Given the description of an element on the screen output the (x, y) to click on. 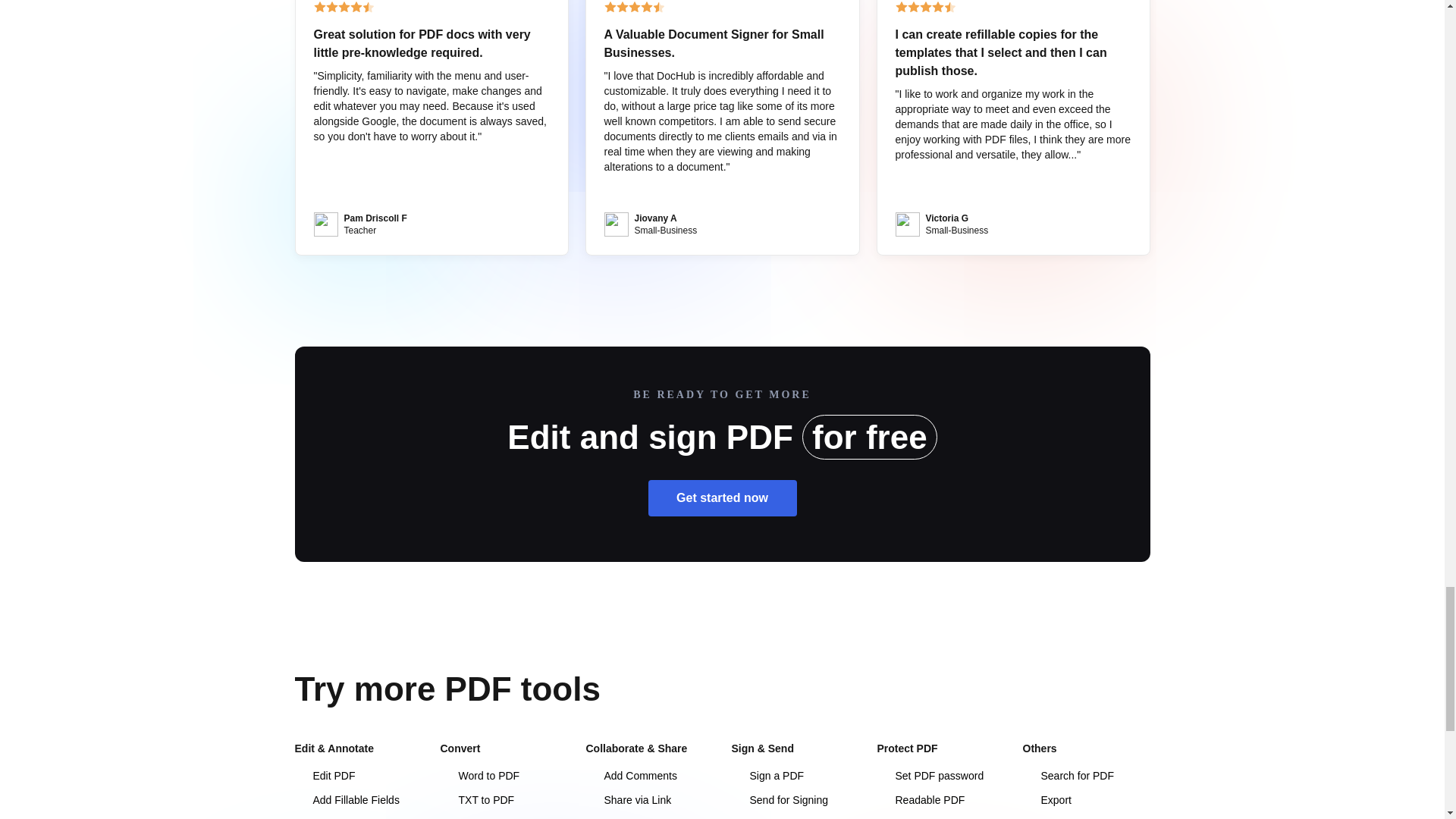
Share via Link (628, 799)
Sign a PDF (766, 775)
Word to PDF (479, 775)
TXT to PDF (476, 799)
Add Fillable Fields (346, 799)
Get started now (721, 497)
Edit PDF (324, 775)
